Given the description of an element on the screen output the (x, y) to click on. 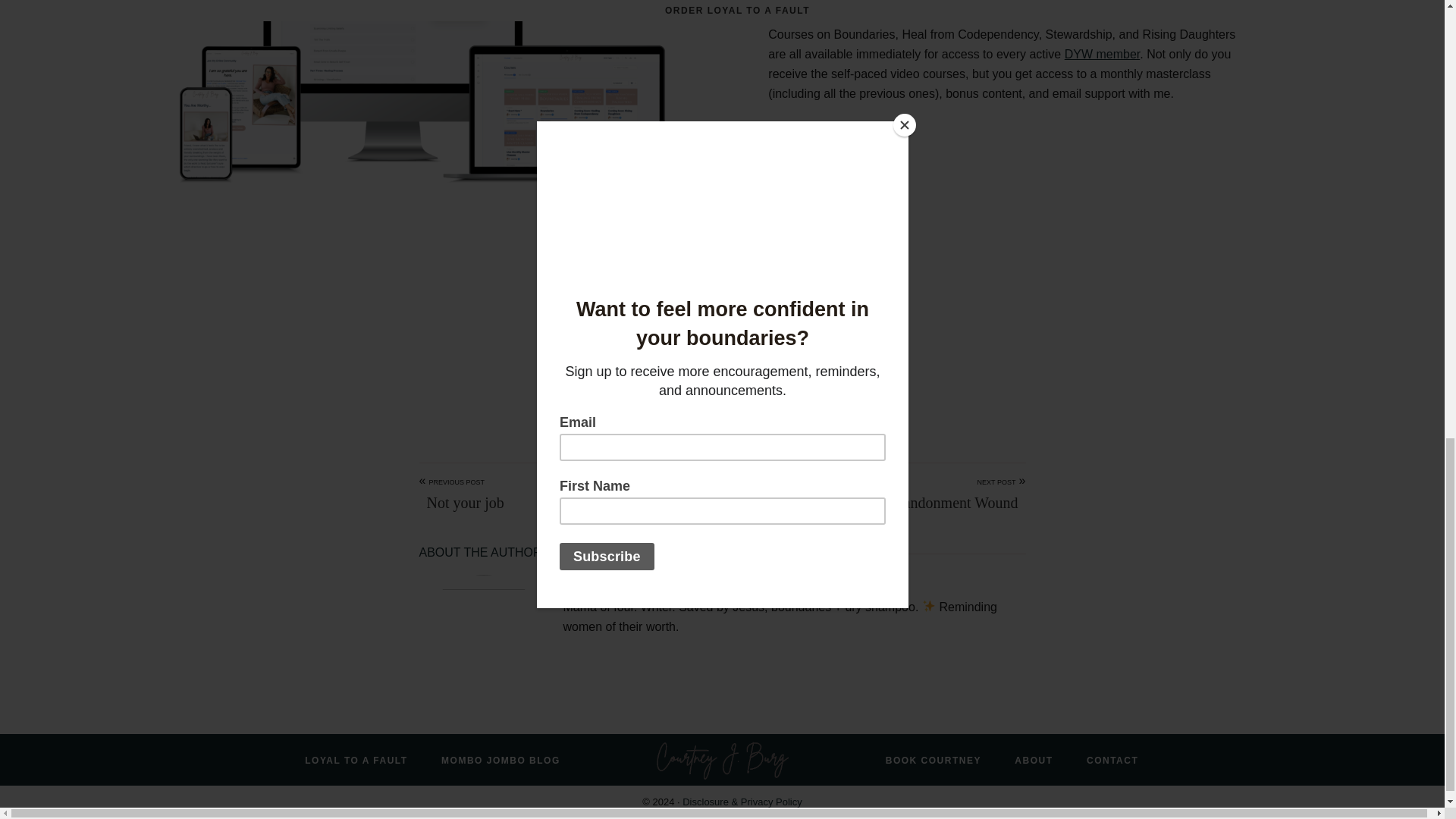
Facebook (706, 390)
Pinterest (676, 390)
Not your job (461, 502)
Threads (737, 390)
Threads (737, 390)
Join Today (721, 318)
Join us today (754, 242)
Pinterest (676, 390)
DYW member (1102, 53)
Facebook (706, 390)
